Given the description of an element on the screen output the (x, y) to click on. 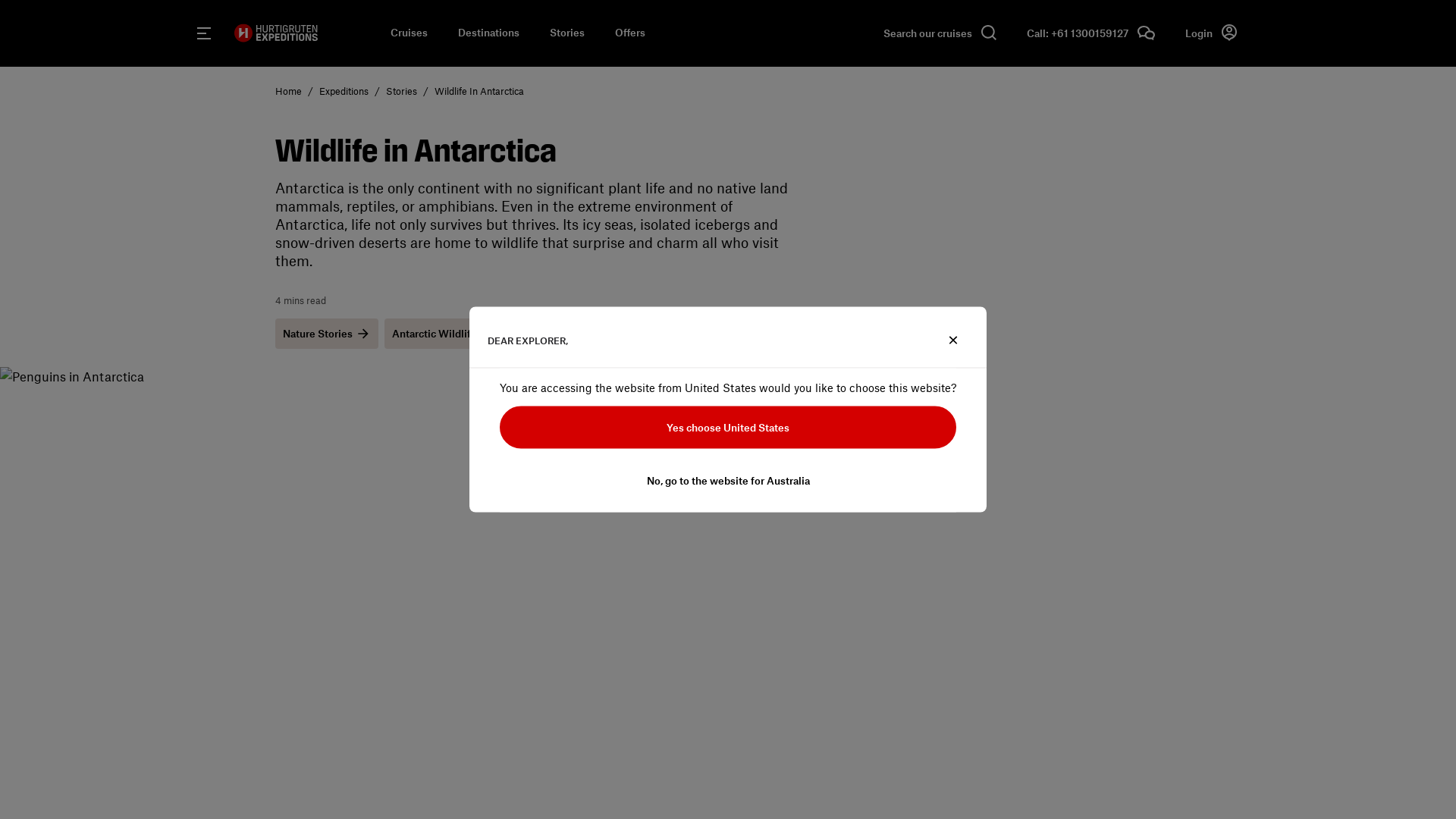
WIldlife In Antarctica Element type: text (478, 90)
Login Element type: text (1209, 32)
Cruises Element type: text (408, 32)
STories Element type: text (400, 90)
Search our cruises Element type: text (939, 32)
No, go to the website for Australia Element type: text (727, 480)
Antarctic Wildlife Element type: text (442, 333)
Tropical Wildlife Element type: text (564, 333)
EXpeditions Element type: text (342, 90)
Call: +61 1300159127 Element type: text (1090, 32)
Offers Element type: text (629, 32)
Stories Element type: text (566, 32)
Nature Stories Element type: text (325, 333)
Open menu Element type: text (203, 33)
Hurtigruten Expeditions Element type: text (275, 33)
Yes choose United States Element type: text (727, 427)
Arctic Wildlife Element type: text (679, 333)
Destinations Element type: text (488, 32)
Home Element type: text (287, 90)
